Given the description of an element on the screen output the (x, y) to click on. 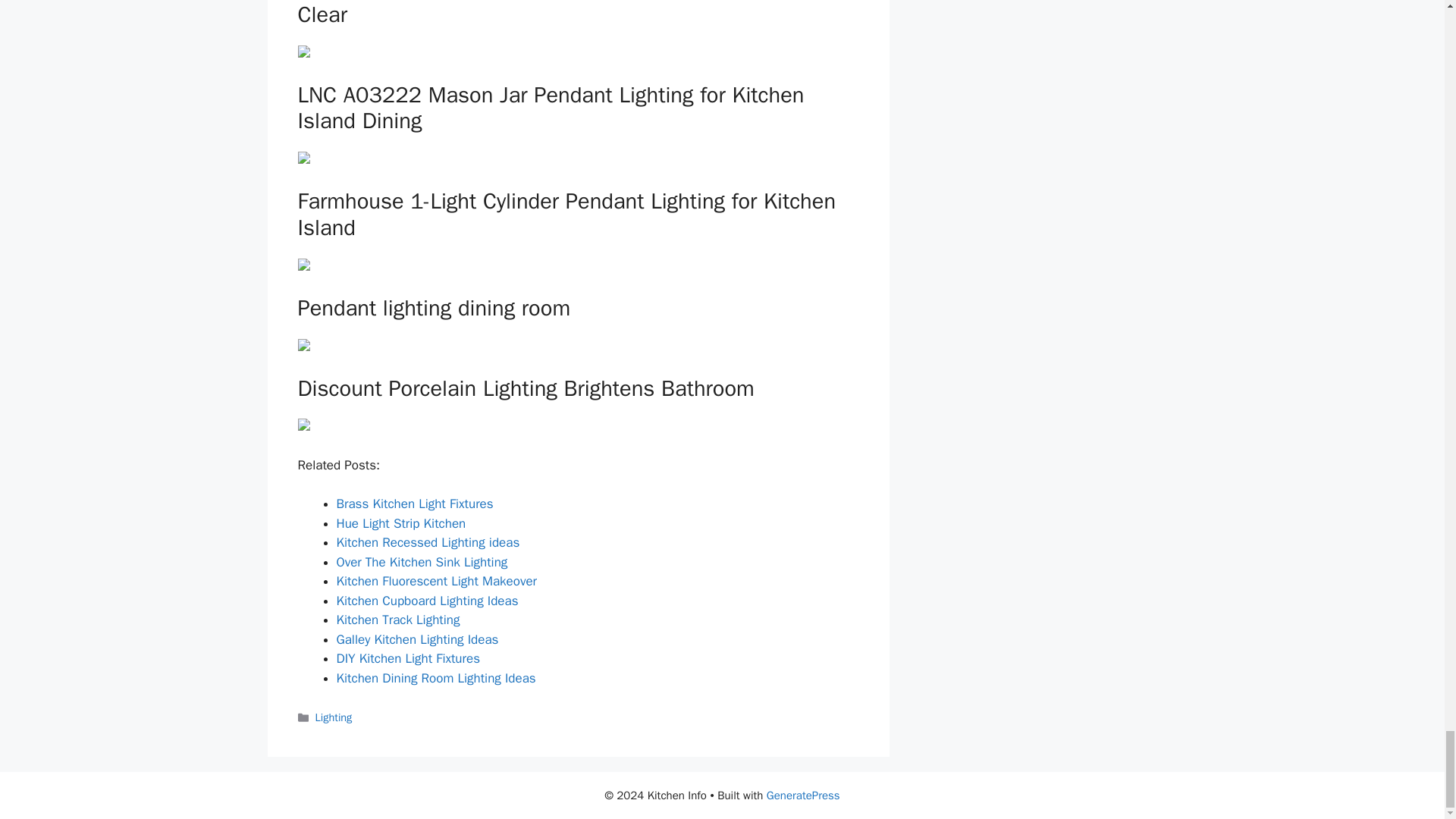
Over The Kitchen Sink Lighting (422, 562)
Hue Light Strip Kitchen (400, 523)
Kitchen Dining Room Lighting Ideas (435, 678)
Brass Kitchen Light Fixtures (414, 503)
DIY Kitchen Light Fixtures (408, 658)
Kitchen Recessed Lighting ideas (427, 542)
Kitchen Fluorescent Light Makeover (436, 580)
Lighting (333, 716)
Galley Kitchen Lighting Ideas (417, 639)
Kitchen Track Lighting (398, 619)
